Given the description of an element on the screen output the (x, y) to click on. 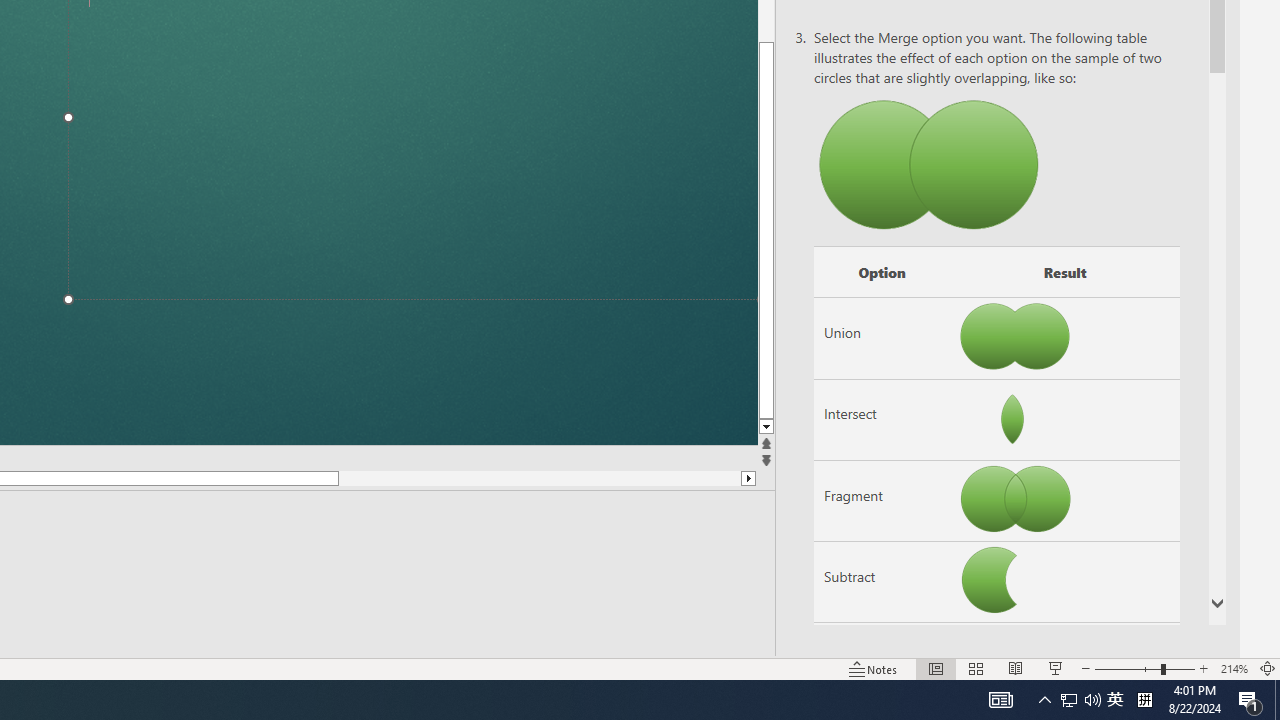
Reading View (1015, 668)
Intersect (881, 419)
Union (881, 338)
Line down (911, 427)
Slide Sorter (975, 668)
Page down (540, 478)
Zoom In (1204, 668)
